Given the description of an element on the screen output the (x, y) to click on. 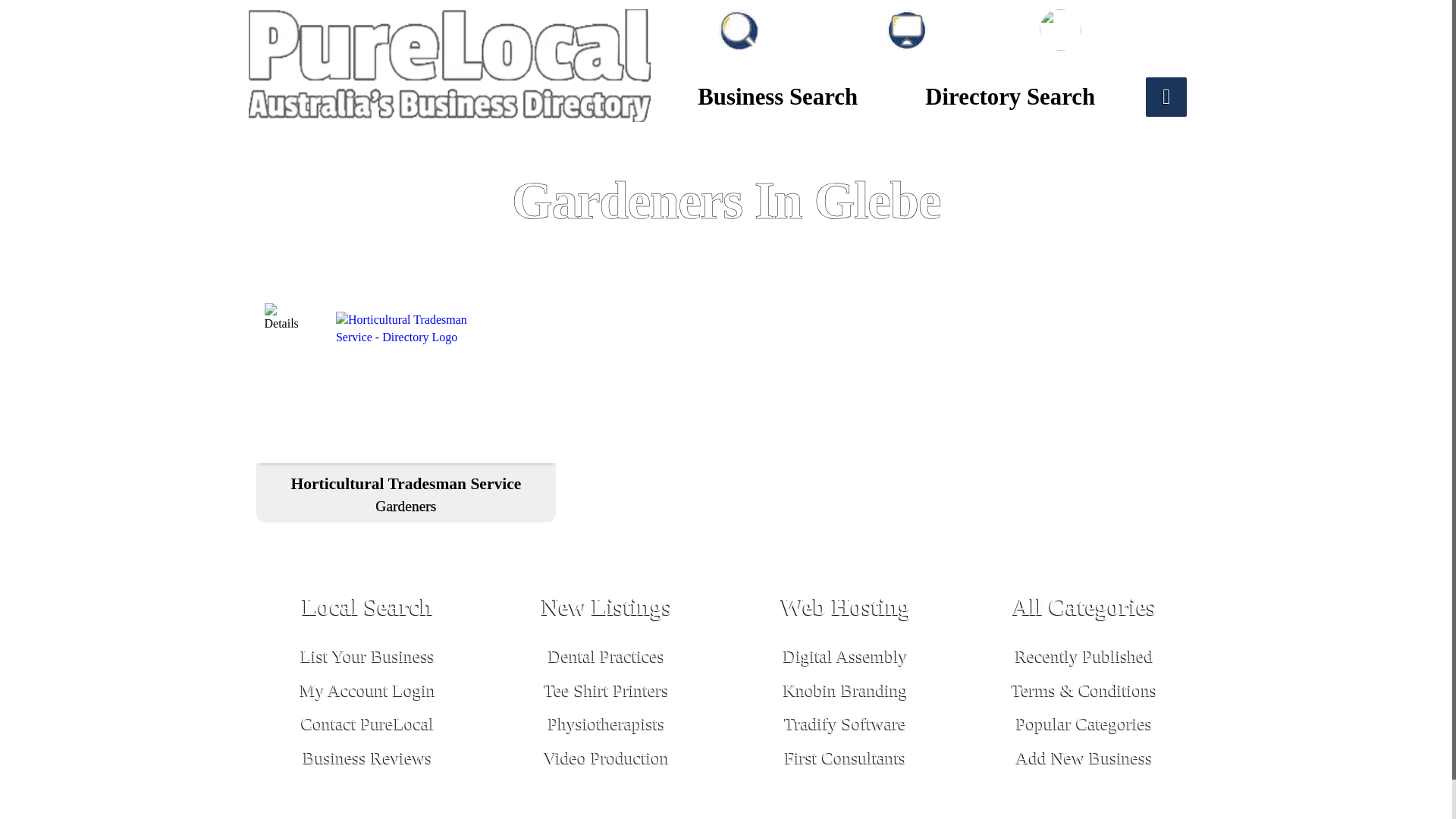
Popular Categories (1083, 723)
New Listings (606, 609)
Dental Practices (605, 655)
All Categories (1084, 609)
Tradify Software (844, 723)
Web Hosting (845, 609)
Add New Business (1084, 757)
My Account Login (367, 690)
Local Search (406, 492)
Knobin Branding (367, 609)
Tee Shirt Printers (845, 690)
Digital Assembly (606, 690)
Business Reviews (845, 655)
Video Production (367, 757)
